Given the description of an element on the screen output the (x, y) to click on. 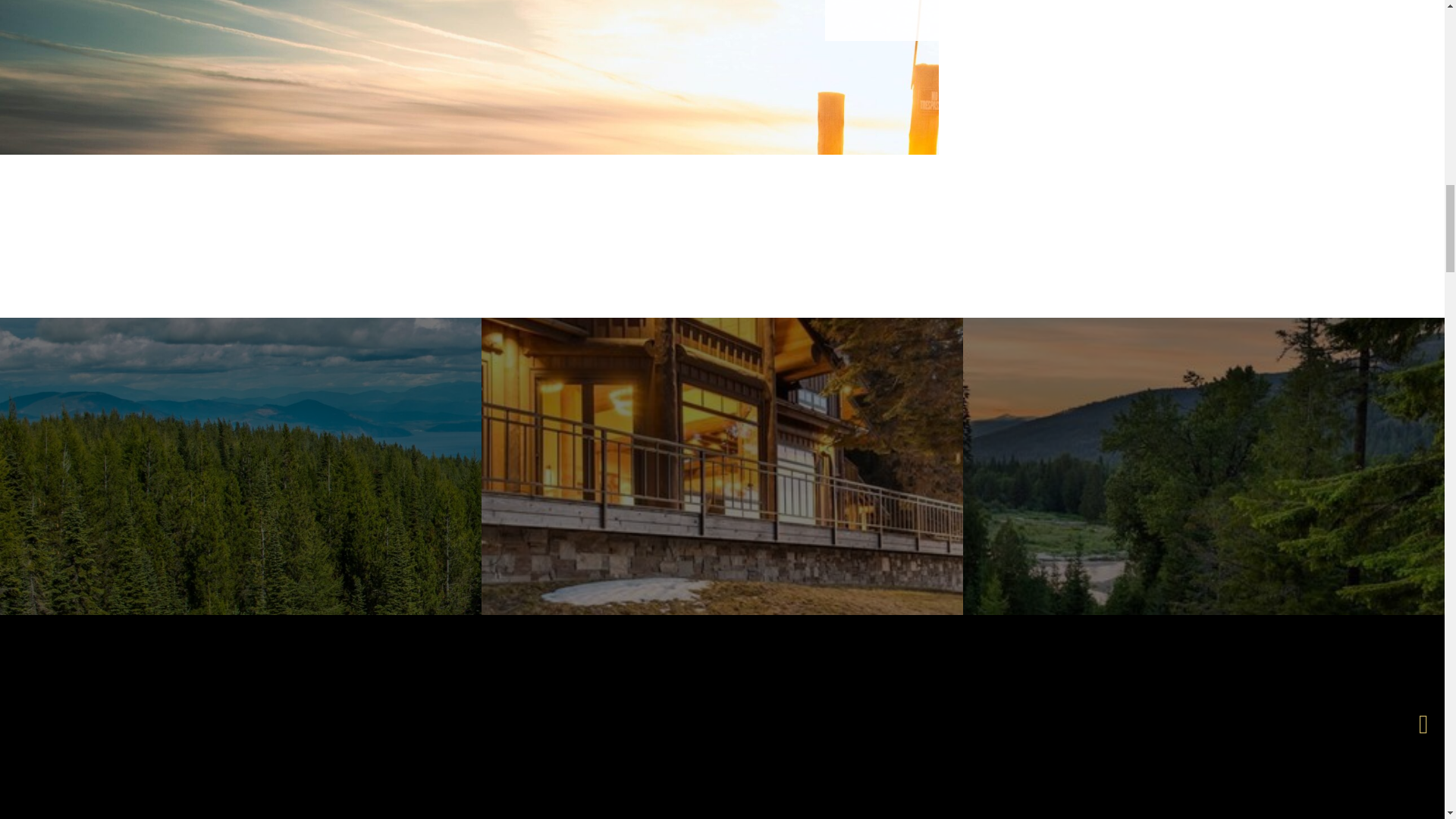
REQUEST MY PACKET (1139, 765)
